Given the description of an element on the screen output the (x, y) to click on. 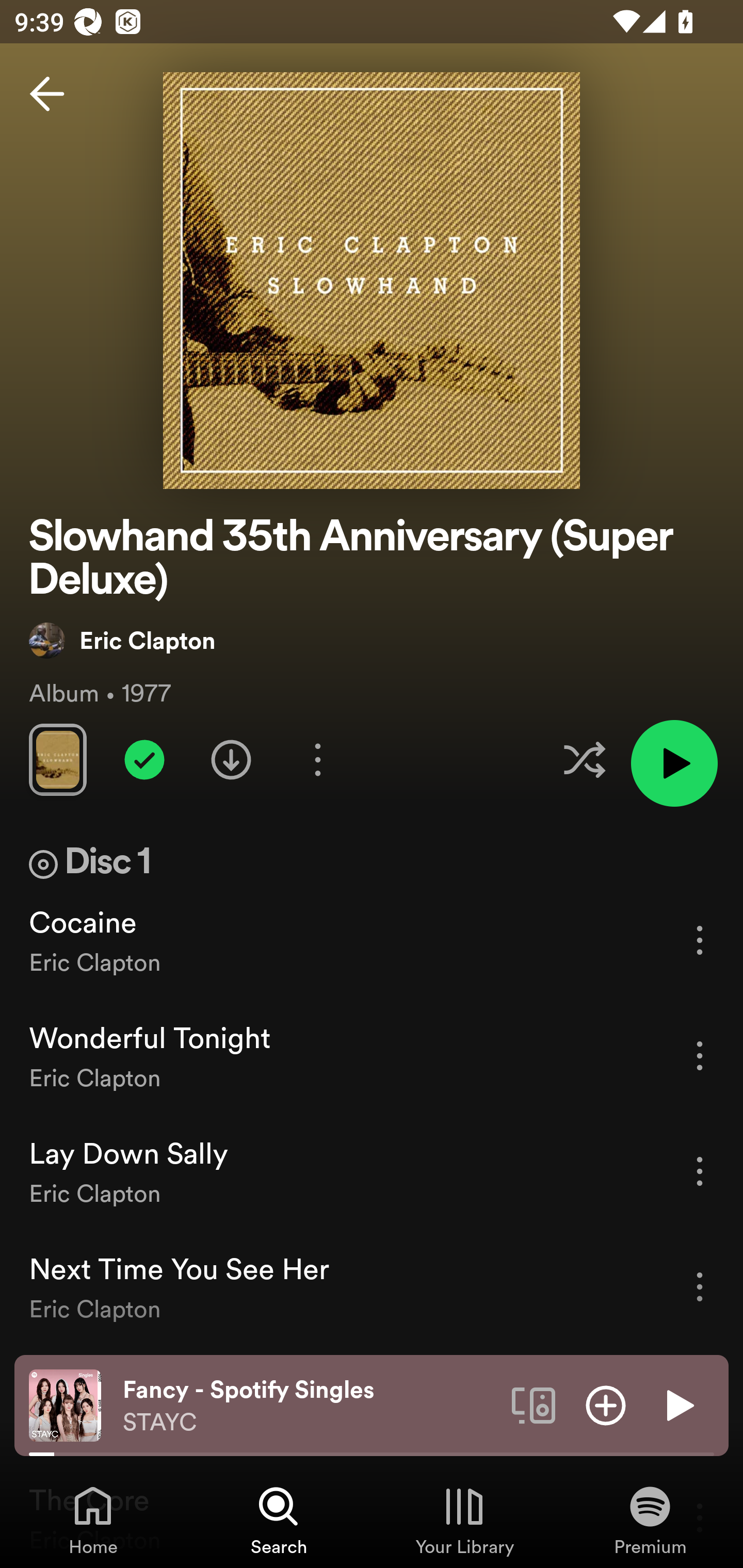
Back (46, 93)
Eric Clapton (122, 640)
Swipe through previews of tracks from this album. (57, 759)
playlist added to Your Library (144, 759)
Download (230, 759)
Enable shuffle for this playlist (583, 759)
Play playlist (674, 763)
More options for song Cocaine (699, 939)
More options for song Wonderful Tonight (699, 1055)
More options for song Lay Down Sally (699, 1171)
More options for song Next Time You See Her (699, 1286)
Fancy - Spotify Singles STAYC (309, 1405)
The cover art of the currently playing track (64, 1404)
Connect to a device. Opens the devices menu (533, 1404)
Add item (605, 1404)
Play (677, 1404)
Home, Tab 1 of 4 Home Home (92, 1519)
Search, Tab 2 of 4 Search Search (278, 1519)
Your Library, Tab 3 of 4 Your Library Your Library (464, 1519)
Premium, Tab 4 of 4 Premium Premium (650, 1519)
